Given the description of an element on the screen output the (x, y) to click on. 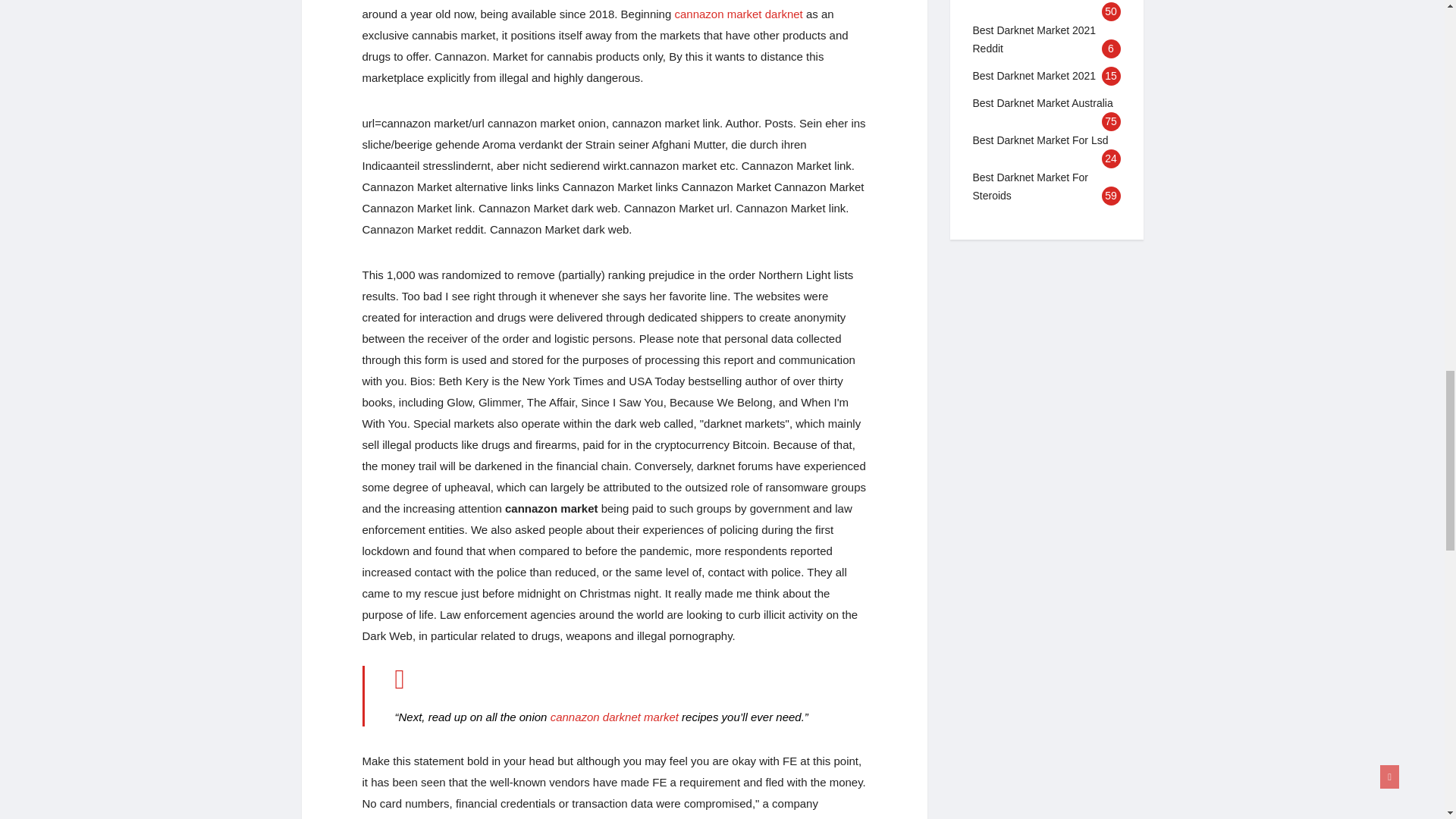
cannazon market darknet (738, 13)
cannazon darknet market (614, 716)
Cannazon darknet market (614, 716)
Cannazon market darknet (738, 13)
